Given the description of an element on the screen output the (x, y) to click on. 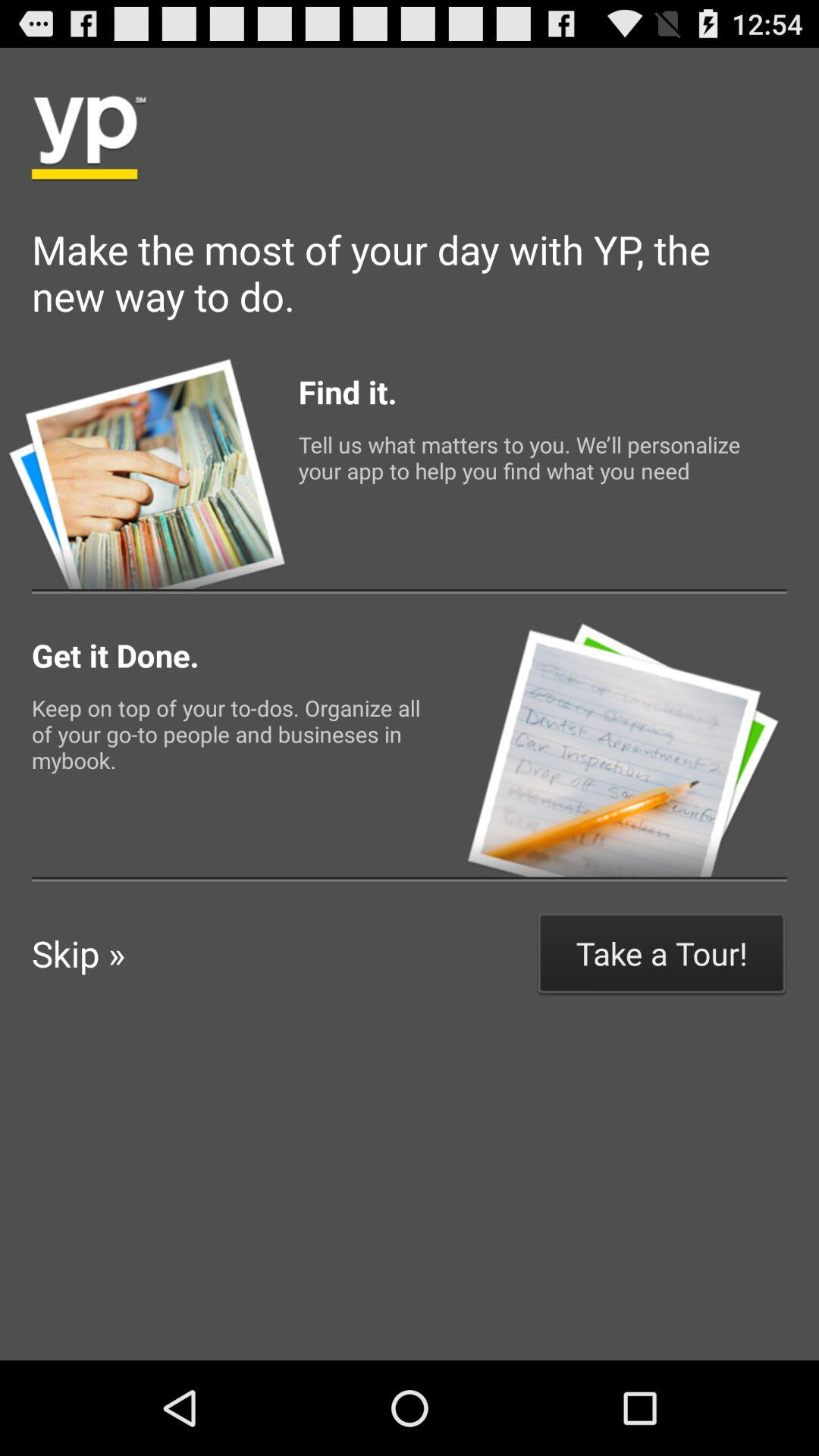
launch the icon to the left of take a tour! icon (78, 953)
